Given the description of an element on the screen output the (x, y) to click on. 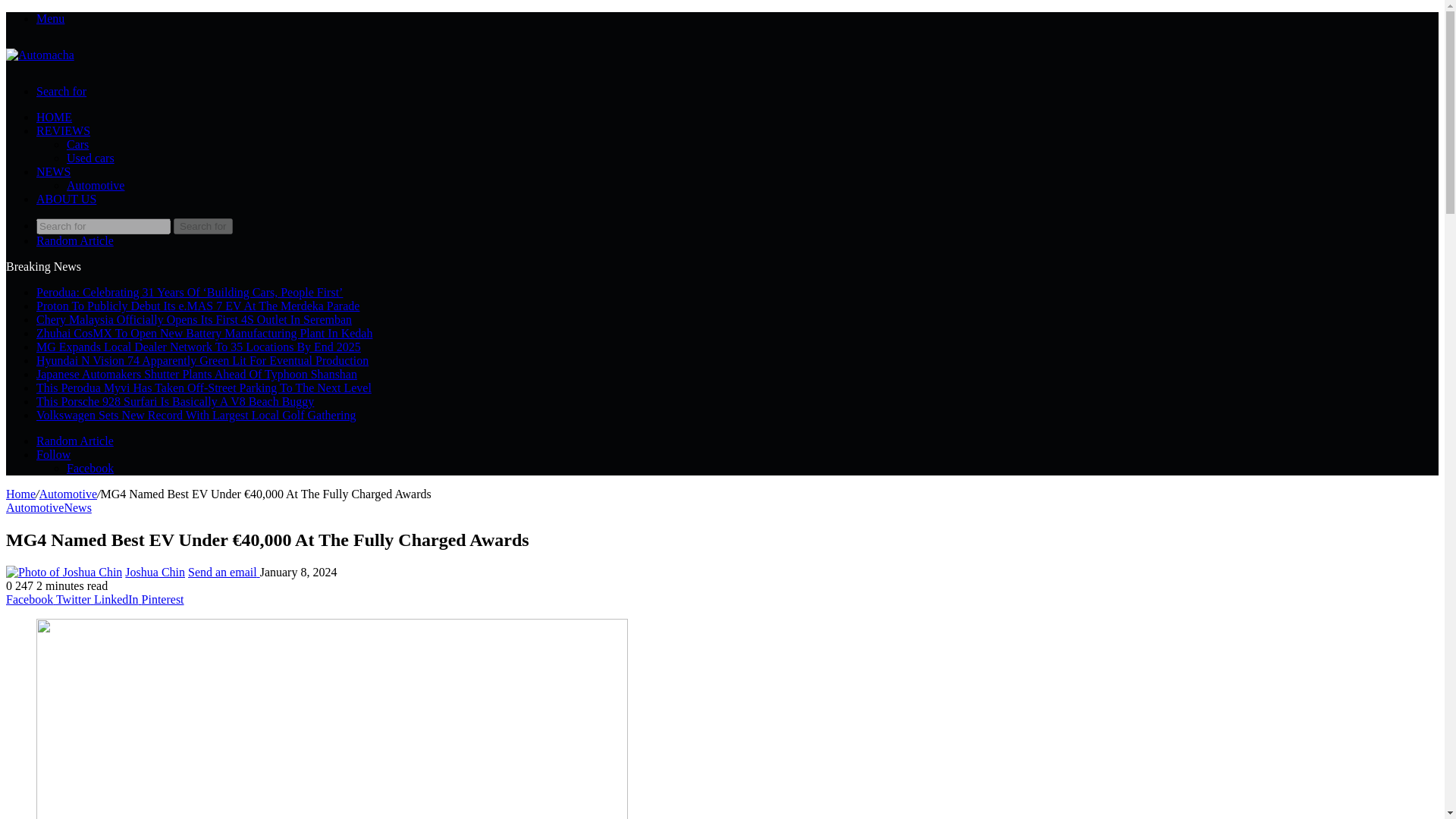
Pinterest (162, 599)
Random Article (74, 440)
Search for (103, 226)
Automacha (39, 54)
REVIEWS (63, 130)
Send an email (223, 571)
MG Expands Local Dealer Network To 35 Locations By End 2025 (198, 346)
Search for (60, 91)
Random Article (74, 440)
Search for (202, 226)
